Given the description of an element on the screen output the (x, y) to click on. 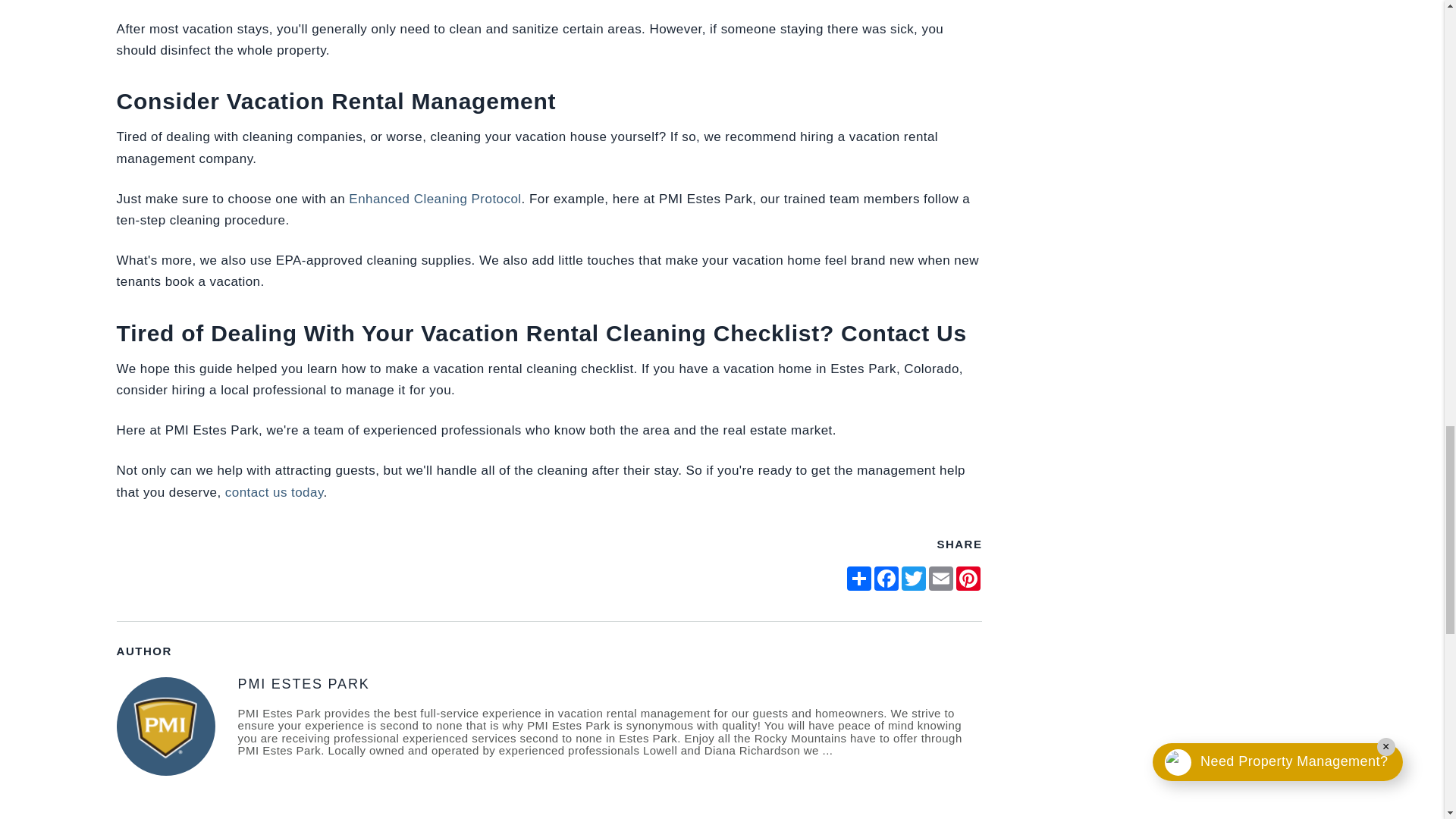
opens in new window (968, 578)
opens in new window (913, 578)
opens in new window (885, 578)
opens in new window (941, 578)
opens in new window (858, 578)
